Given the description of an element on the screen output the (x, y) to click on. 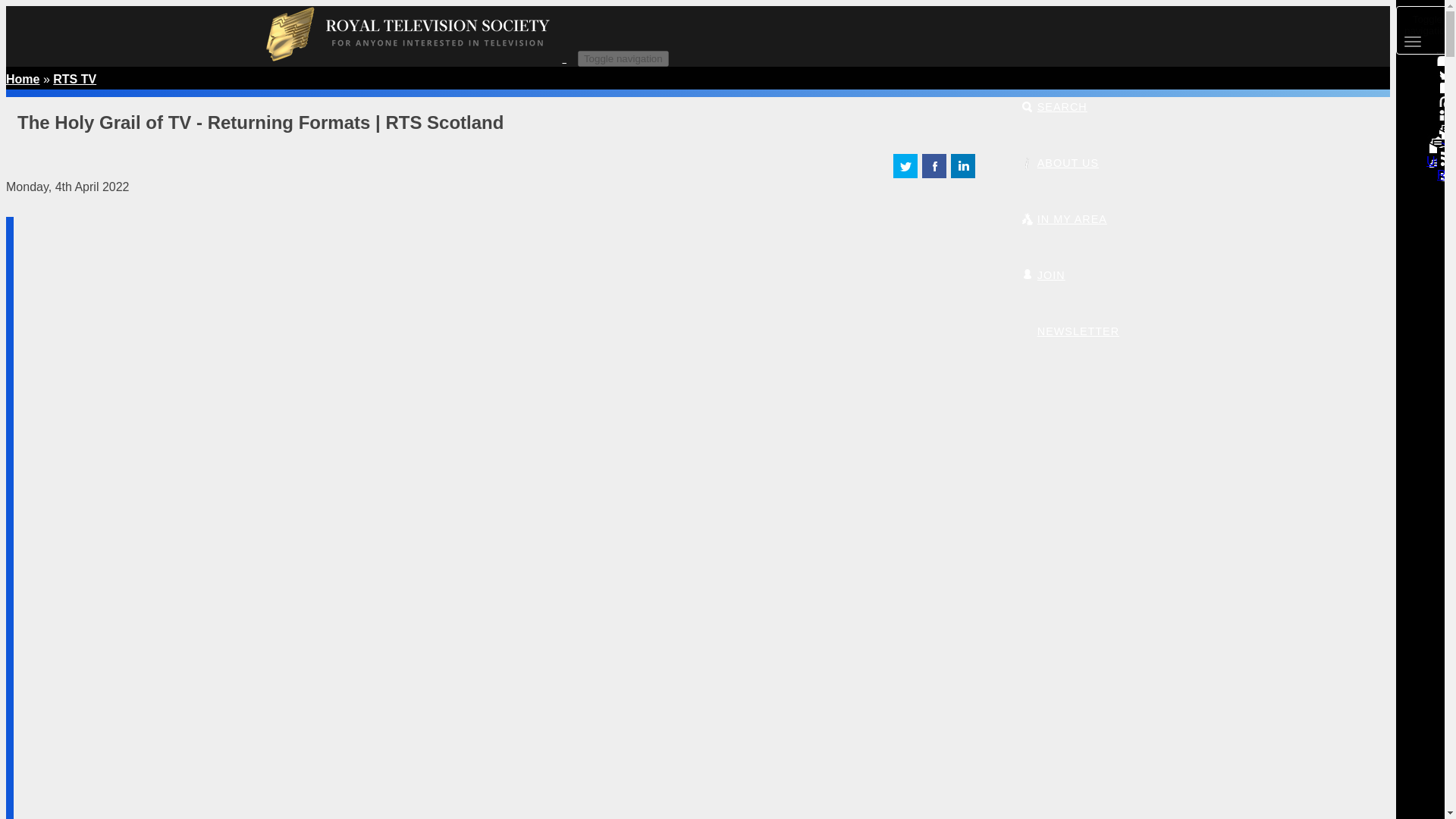
Share on LinkedIn (962, 173)
JOIN (1042, 275)
SEARCH (1053, 106)
Home (420, 57)
NEWSLETTER (1069, 331)
ABOUT US (1059, 162)
IN MY AREA (1063, 218)
Tweet this (905, 173)
Toggle navigation (623, 58)
